Given the description of an element on the screen output the (x, y) to click on. 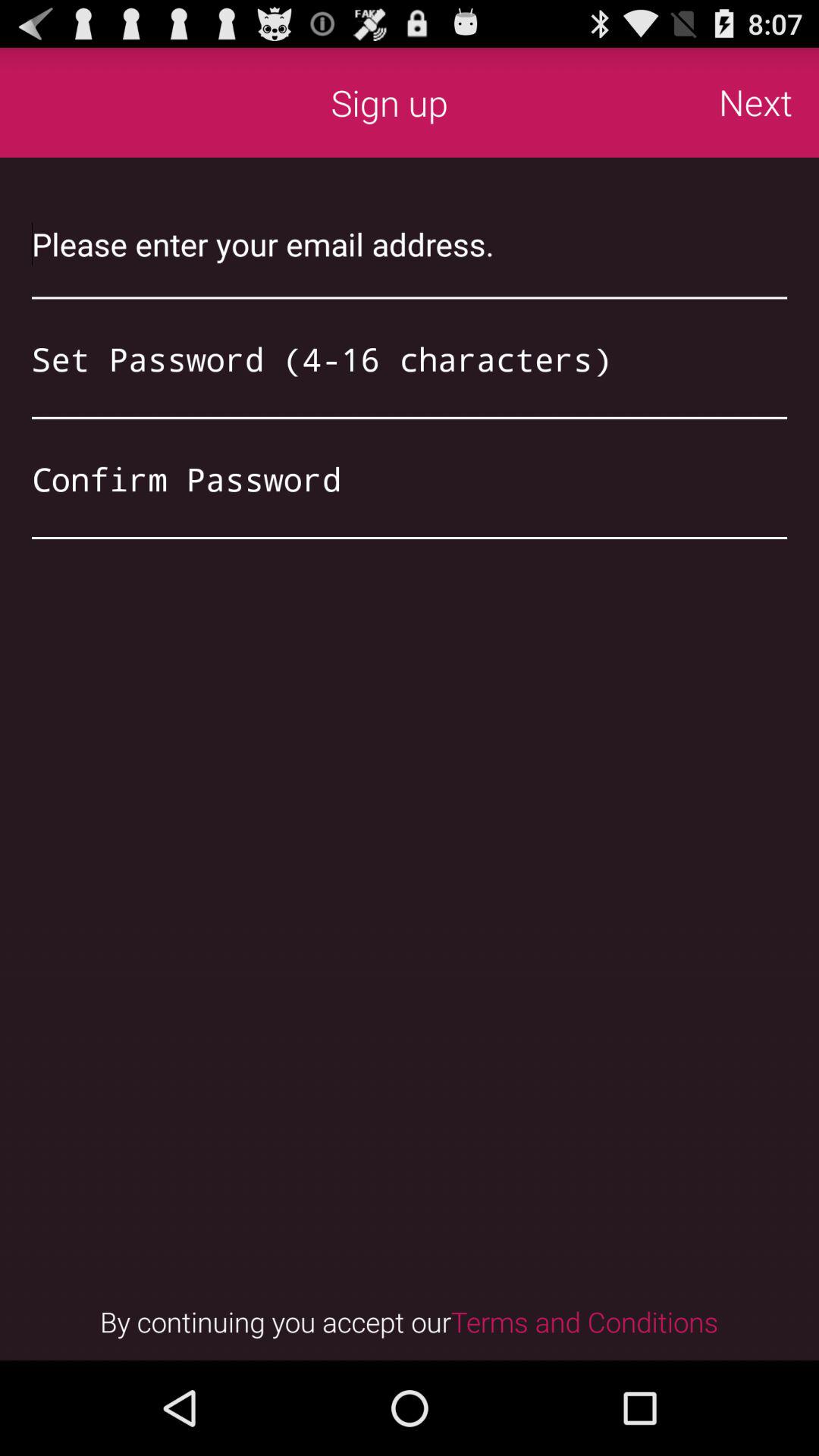
password check (409, 478)
